Given the description of an element on the screen output the (x, y) to click on. 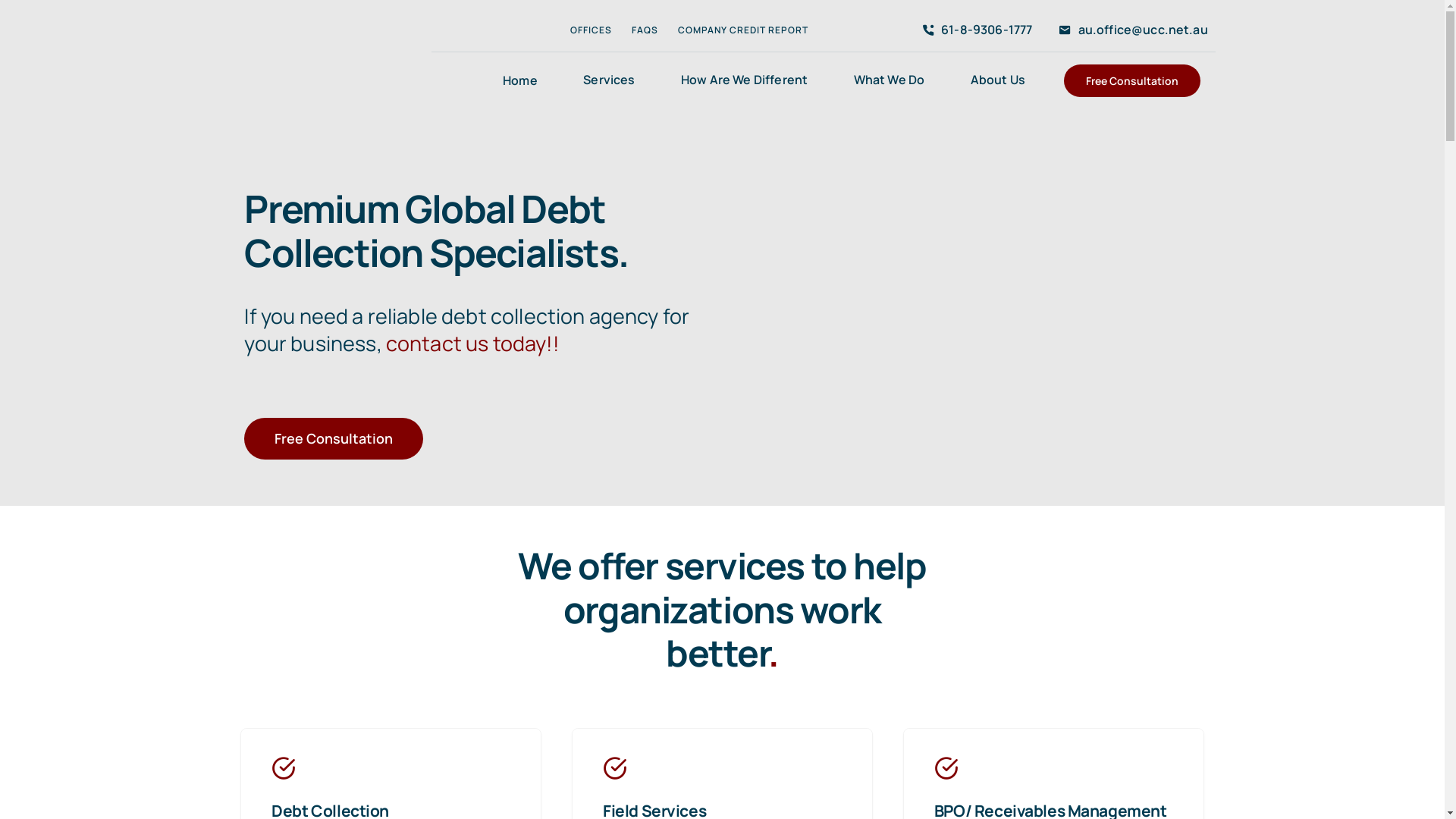
FAQS Element type: text (644, 30)
OFFICES Element type: text (590, 30)
61-8-9306-1777 Element type: text (973, 30)
What We Do Element type: text (889, 80)
Free Consultation Element type: text (1131, 80)
Home Element type: text (520, 80)
Free Consultation Element type: text (333, 438)
au.office@ucc.net.au Element type: text (1129, 30)
man-standing Element type: hover (1004, 318)
How Are We Different Element type: text (744, 80)
Services Element type: text (608, 80)
COMPANY CREDIT REPORT Element type: text (742, 30)
About Us Element type: text (997, 80)
